Given the description of an element on the screen output the (x, y) to click on. 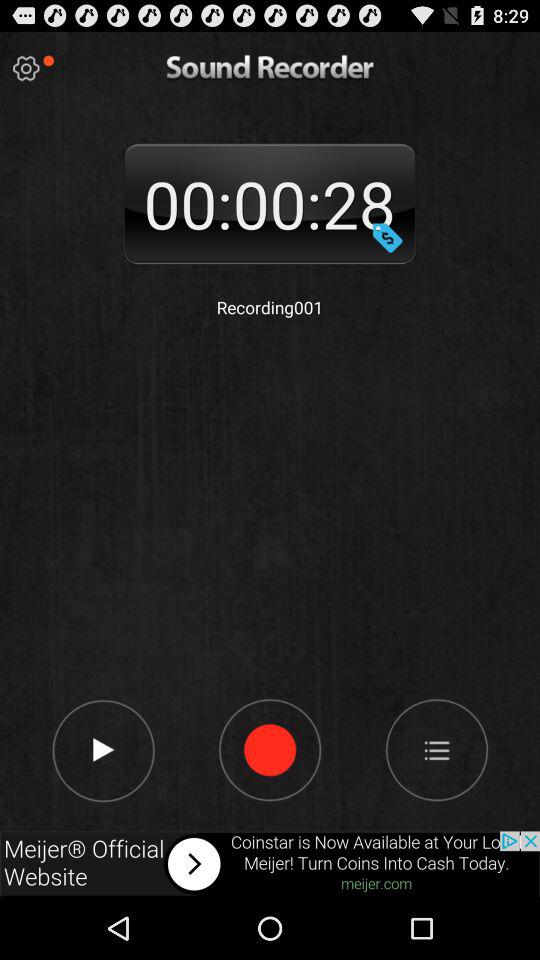
start recorder (269, 749)
